Given the description of an element on the screen output the (x, y) to click on. 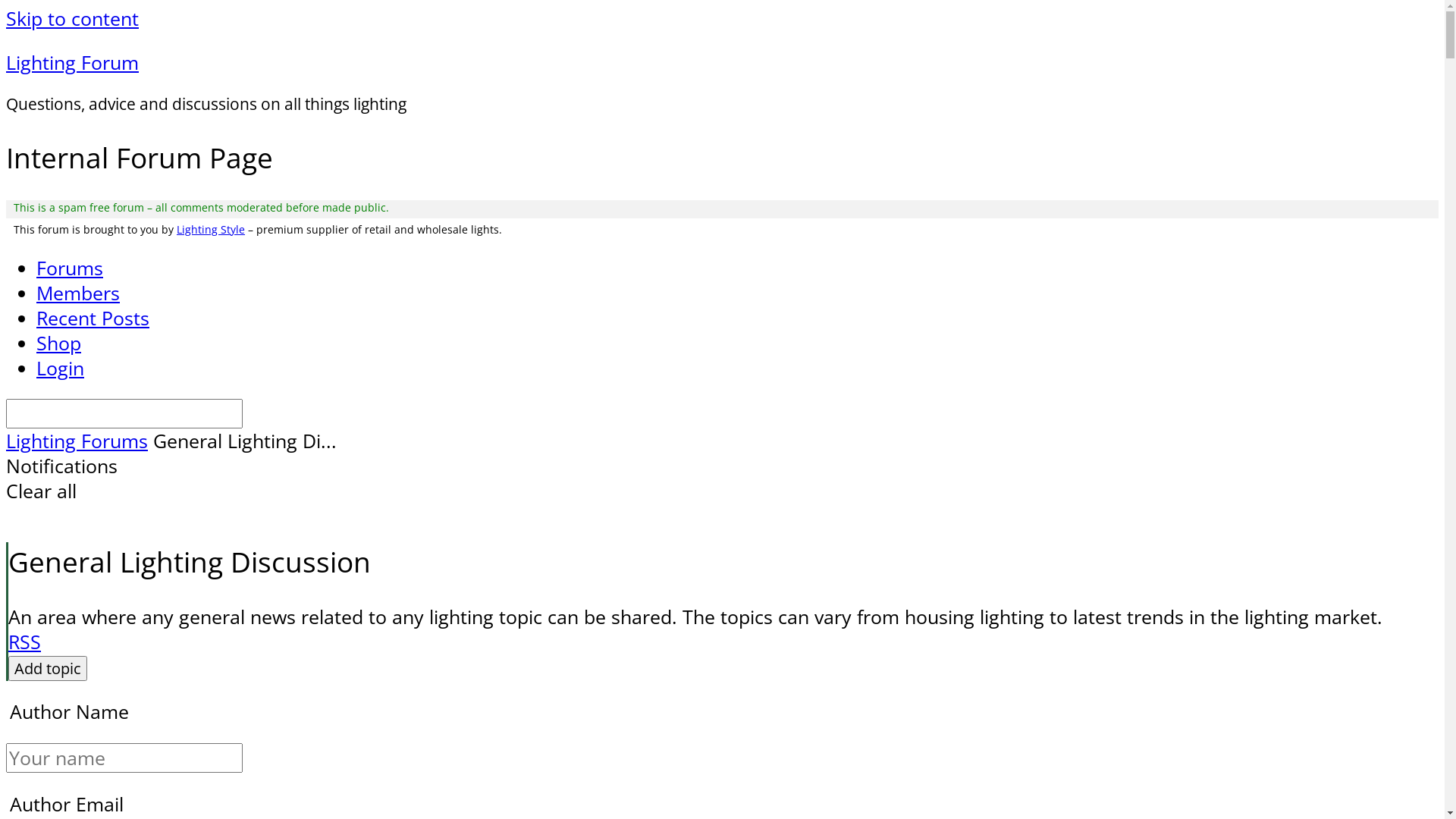
RSS Element type: text (24, 641)
Forums Element type: text (69, 267)
Lighting Forums Element type: text (76, 440)
Members Element type: text (77, 292)
Recent Posts Element type: text (92, 317)
Add topic Element type: text (47, 667)
Skip to content Element type: text (72, 18)
Login Element type: text (60, 367)
Lighting Forum Element type: text (72, 62)
Shop Element type: text (58, 342)
Lighting Style Element type: text (210, 229)
